Given the description of an element on the screen output the (x, y) to click on. 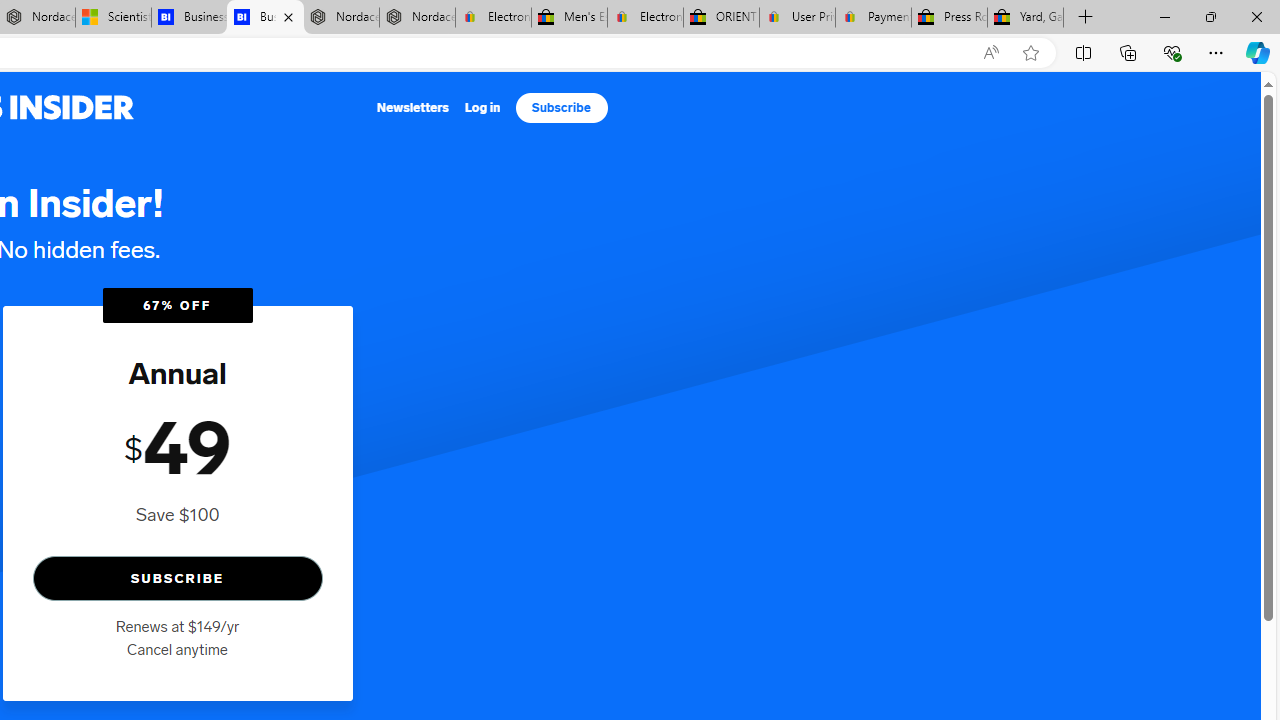
Yard, Garden & Outdoor Living (1025, 17)
SUBSCRIBE (177, 578)
Cancel anytime (177, 649)
